Given the description of an element on the screen output the (x, y) to click on. 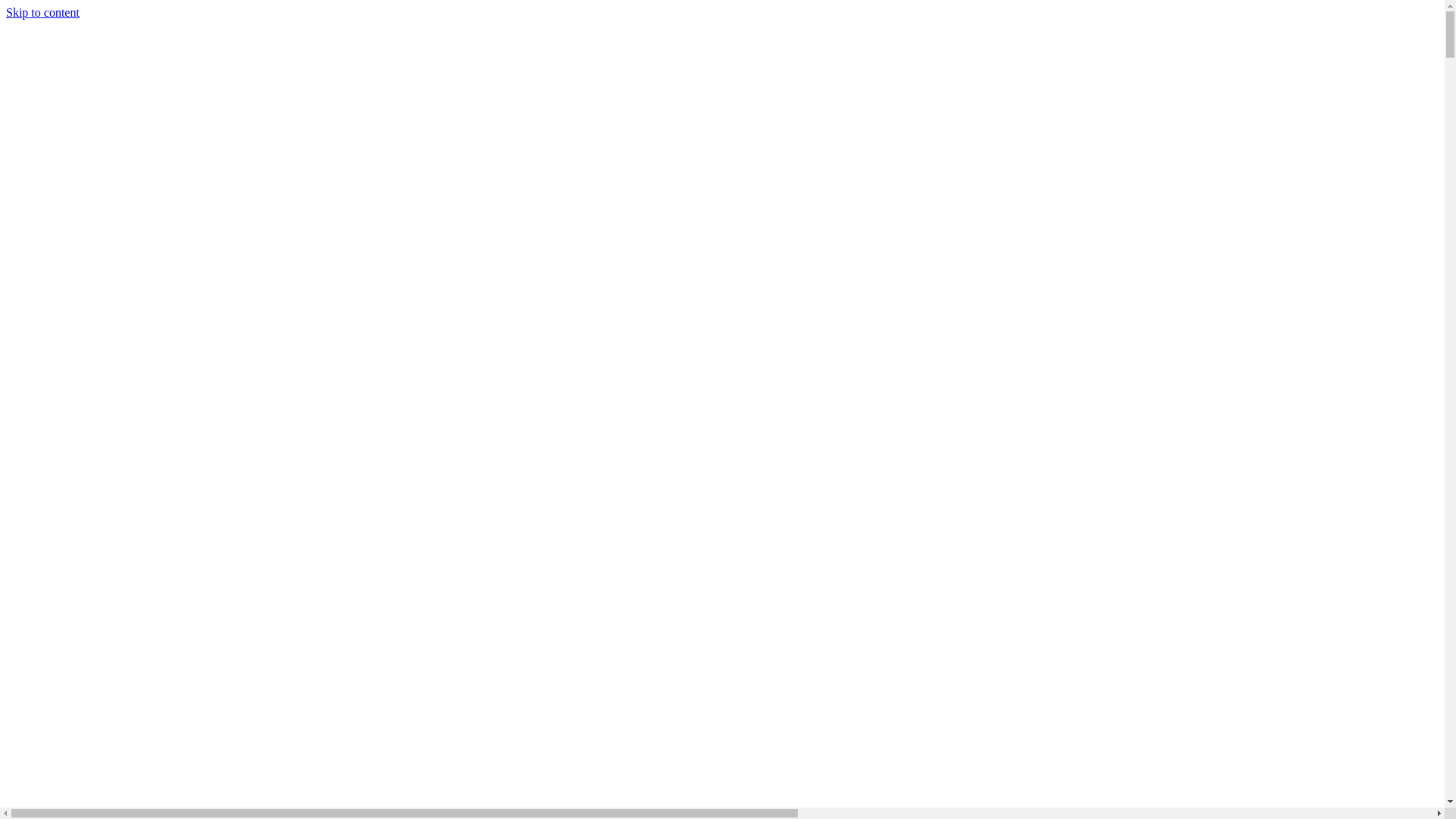
Skip to content Element type: text (42, 12)
